Given the description of an element on the screen output the (x, y) to click on. 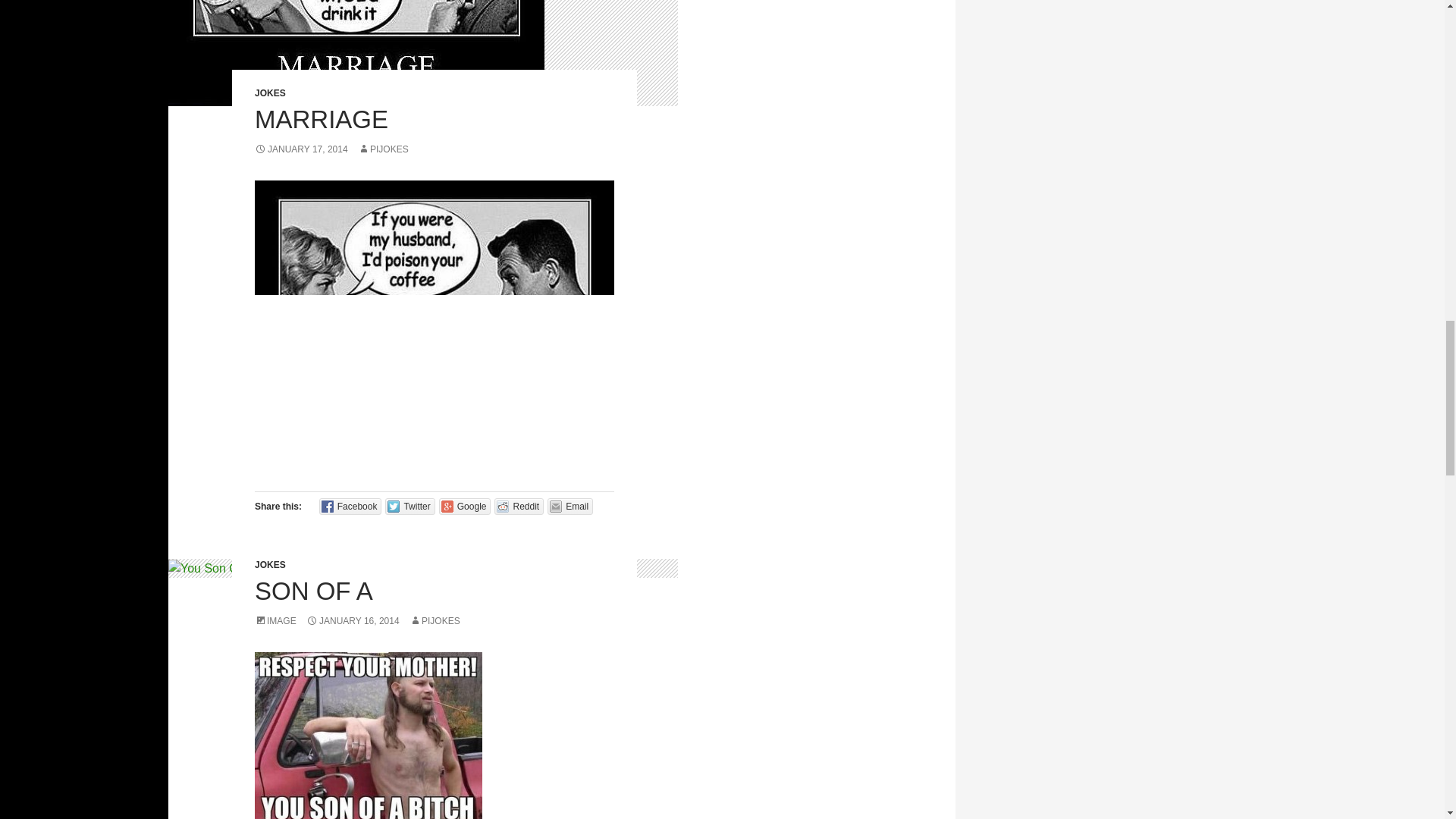
PIJOKES (383, 149)
Google (465, 506)
Reddit (519, 506)
JANUARY 17, 2014 (300, 149)
Click to share on Twitter (409, 506)
Twitter (409, 506)
Facebook (349, 506)
View all posts in Jokes (269, 92)
JOKES (269, 92)
Email (569, 506)
MARRIAGE (321, 119)
Share on Facebook (349, 506)
